Given the description of an element on the screen output the (x, y) to click on. 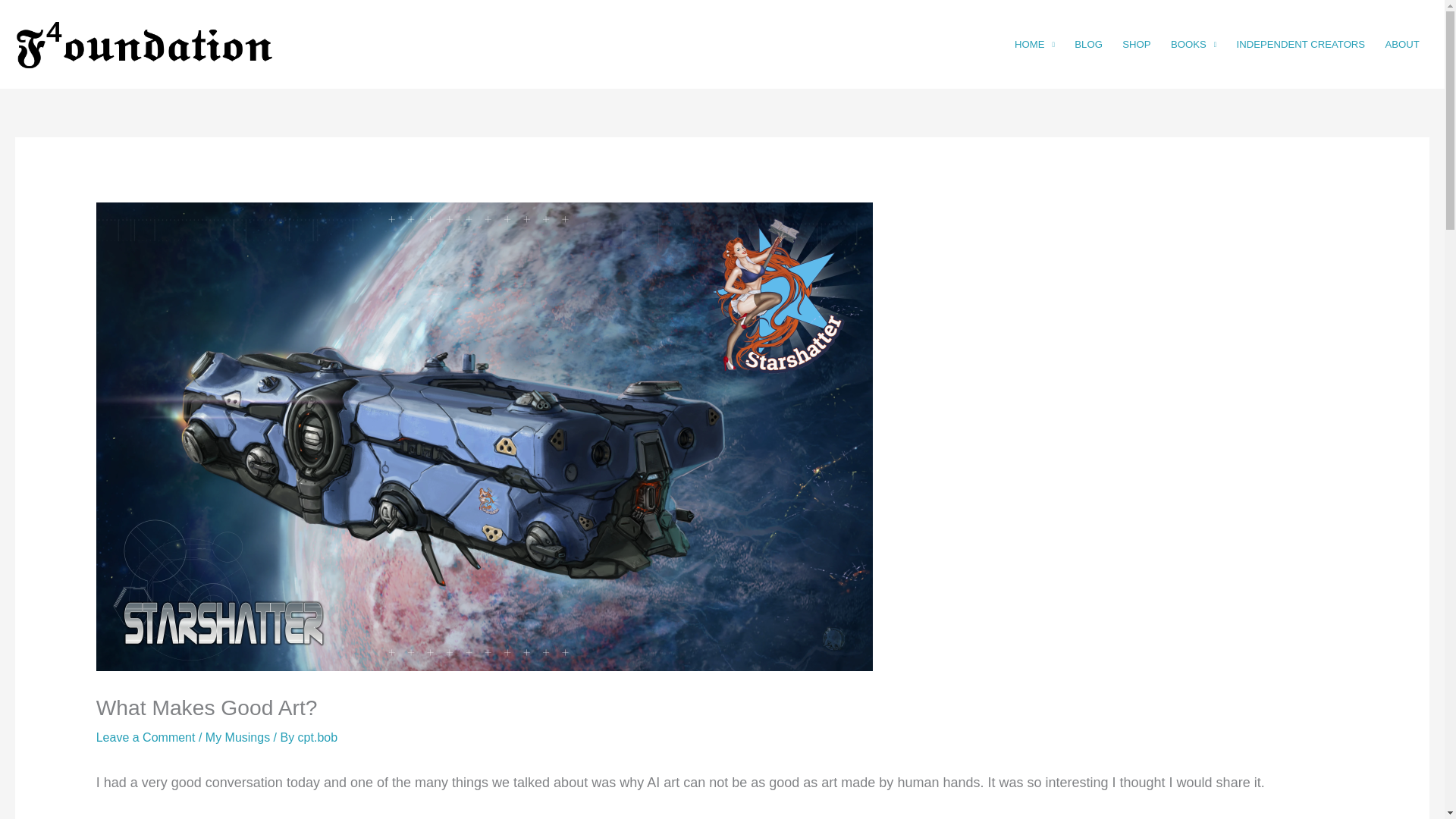
BLOG (1088, 44)
ABOUT (1401, 44)
Leave a Comment (145, 737)
INDEPENDENT CREATORS (1299, 44)
HOME (1034, 44)
cpt.bob (317, 737)
SHOP (1136, 44)
BOOKS (1193, 44)
My Musings (237, 737)
View all posts by cpt.bob (317, 737)
